Given the description of an element on the screen output the (x, y) to click on. 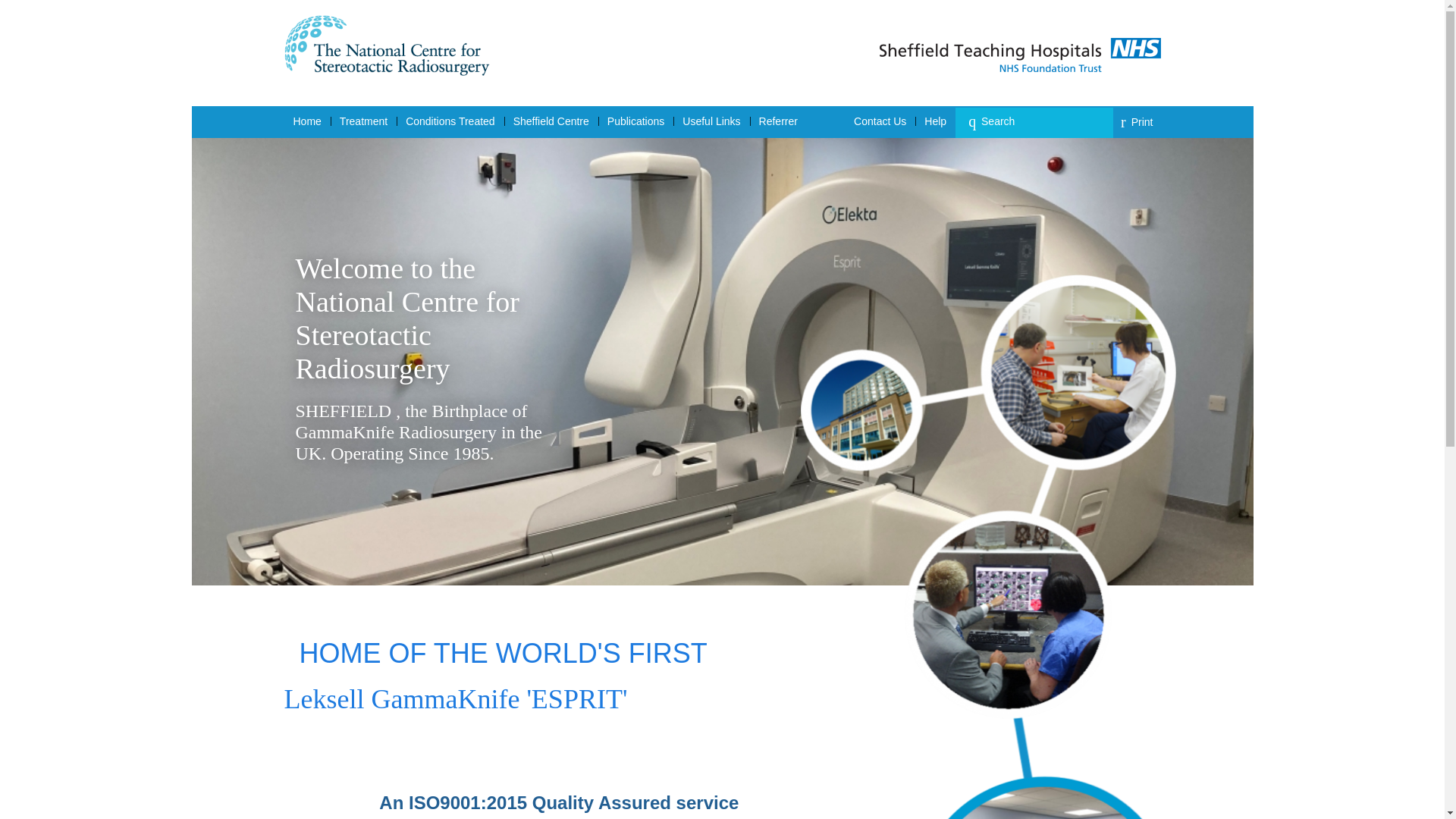
Useful Links (710, 121)
Help (935, 121)
Contact Us (879, 121)
Referrer (777, 121)
Print (1136, 122)
Treatment (363, 121)
Search (1039, 121)
Contact Us (879, 121)
Home (306, 121)
Sheffield Centre (550, 121)
Help (935, 121)
Conditions Treated (449, 121)
Conditions Treated (449, 121)
Treatment (363, 121)
Home (306, 121)
